Given the description of an element on the screen output the (x, y) to click on. 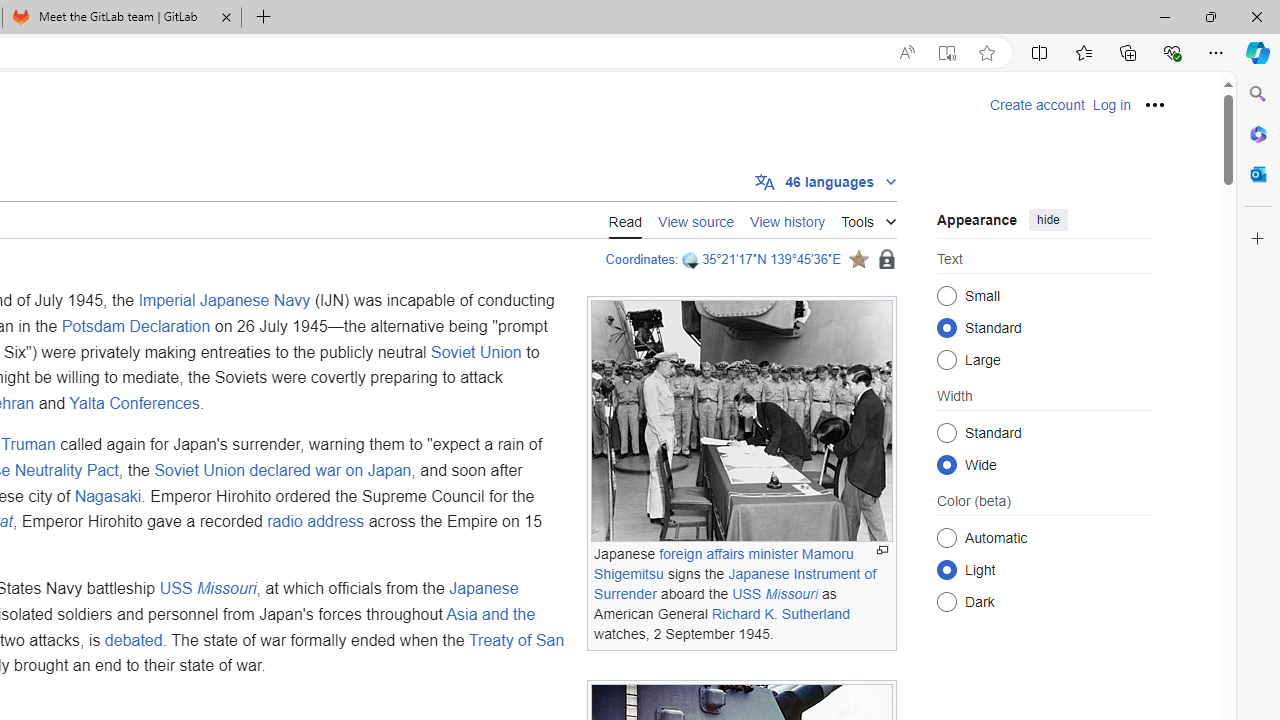
Light (946, 569)
Small (946, 295)
Featured article (858, 259)
Class: mw-list-item mw-list-item-js (1044, 569)
Large (946, 359)
Wide (946, 464)
Coordinates (639, 259)
Mamoru Shigemitsu (723, 564)
Standard (946, 431)
Read (625, 219)
